Given the description of an element on the screen output the (x, y) to click on. 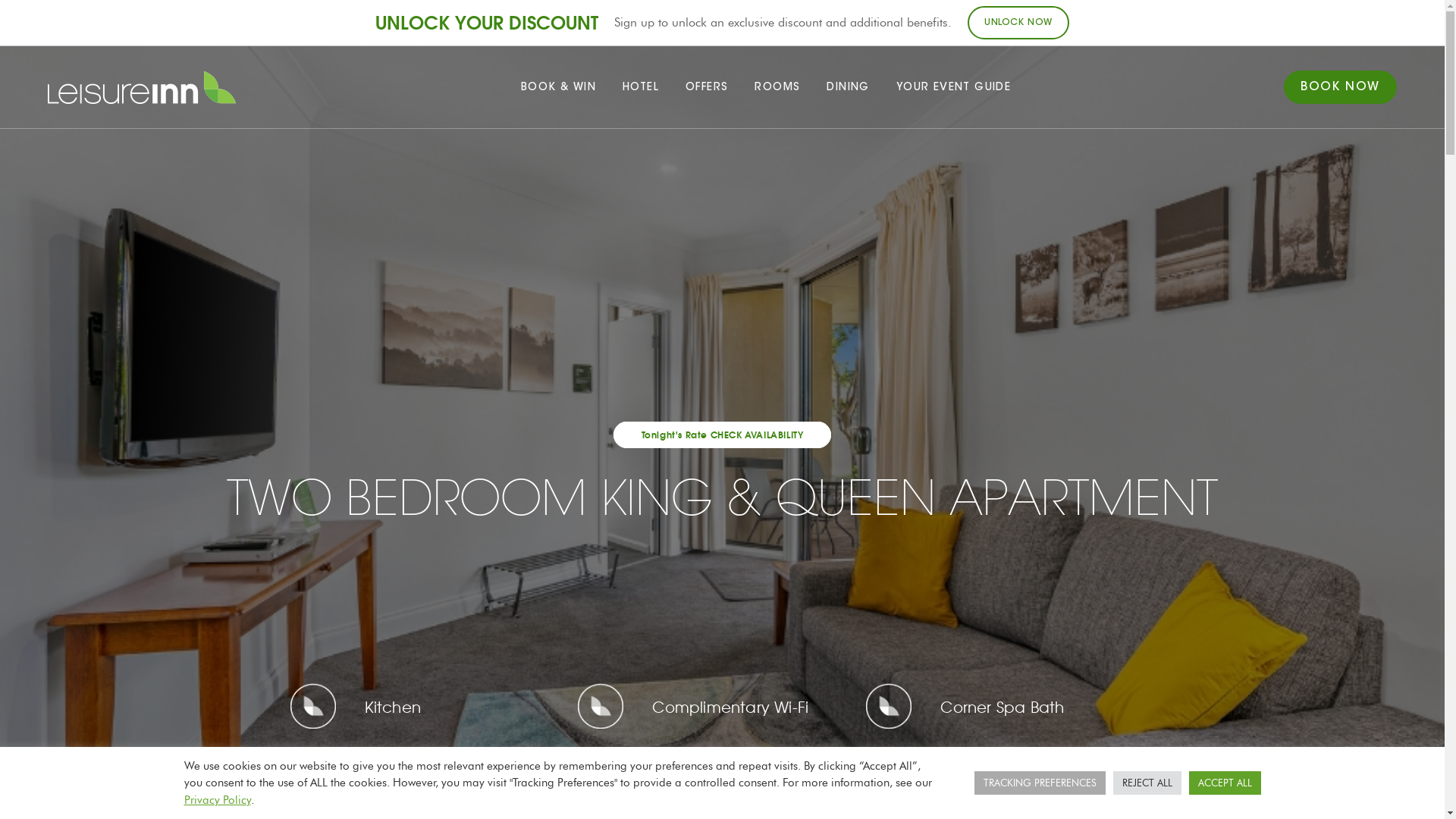
BOOK & WIN Element type: text (558, 86)
DINING Element type: text (847, 86)
YOUR EVENT GUIDE Element type: text (953, 86)
REJECT ALL Element type: text (1147, 782)
BOOK NOW Element type: text (1339, 86)
UNLOCK NOW Element type: text (1018, 22)
TRACKING PREFERENCES Element type: text (1038, 782)
HOTEL Element type: text (640, 86)
ACCEPT ALL Element type: text (1225, 782)
OFFERS Element type: text (706, 86)
Tonight's Rate CHECK AVAILABILITY Element type: text (722, 434)
ROOMS Element type: text (777, 86)
Leisure Inn Element type: text (141, 87)
Privacy Policy Element type: text (216, 799)
